Given the description of an element on the screen output the (x, y) to click on. 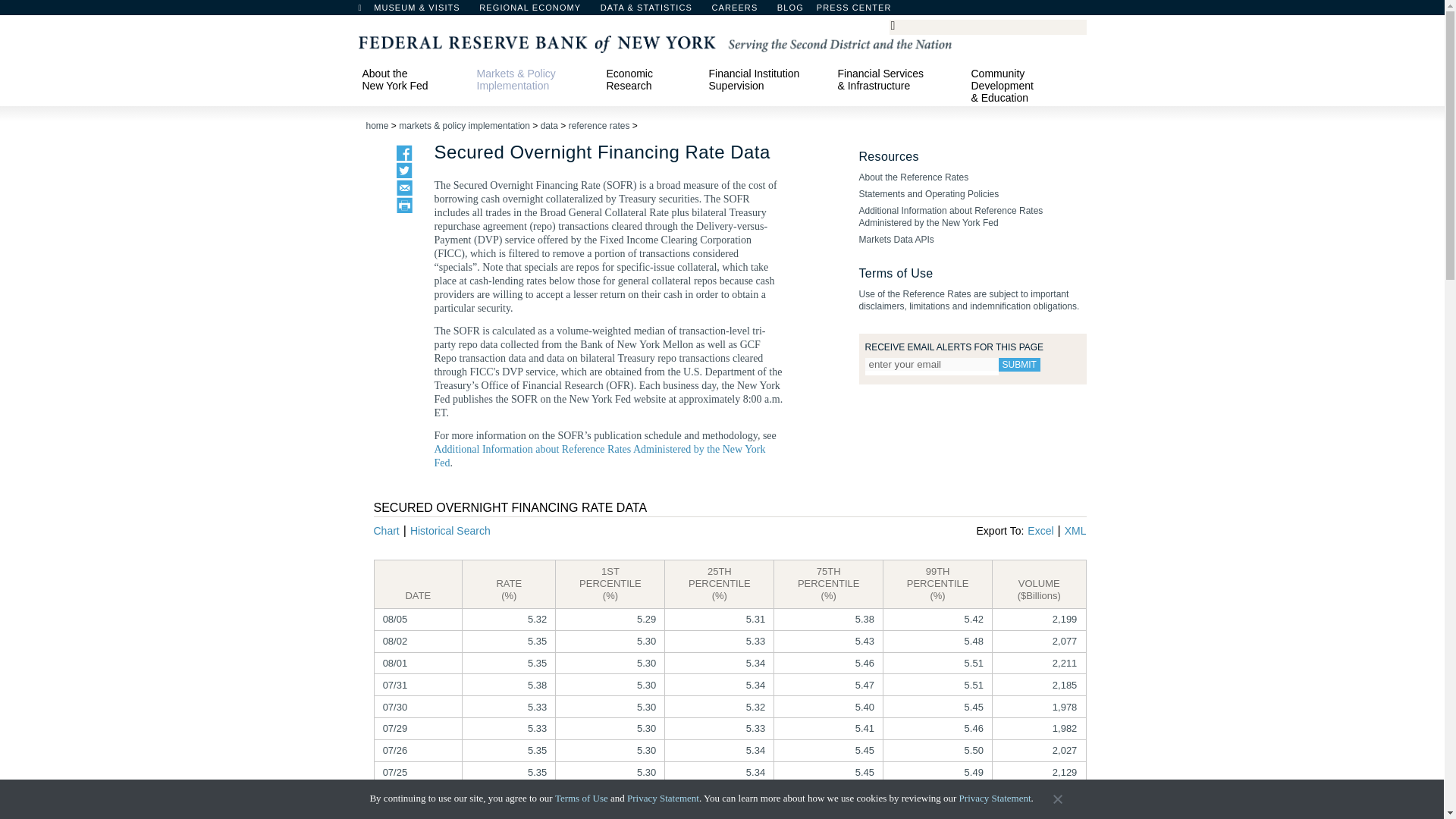
CAREERS (742, 11)
BLOG (830, 11)
Search Form (987, 27)
PRESS CENTER (861, 11)
Submit (1018, 364)
Regional Economy (537, 11)
Liberty Street Economics Blog (830, 11)
Search Button (897, 24)
Press Center (861, 11)
Search Box (985, 26)
About the New York Fed (411, 79)
About the New York Fed (411, 79)
Chart (385, 530)
Federal Reserve Bank of New York (654, 42)
REGIONAL ECONOMY (537, 11)
